Given the description of an element on the screen output the (x, y) to click on. 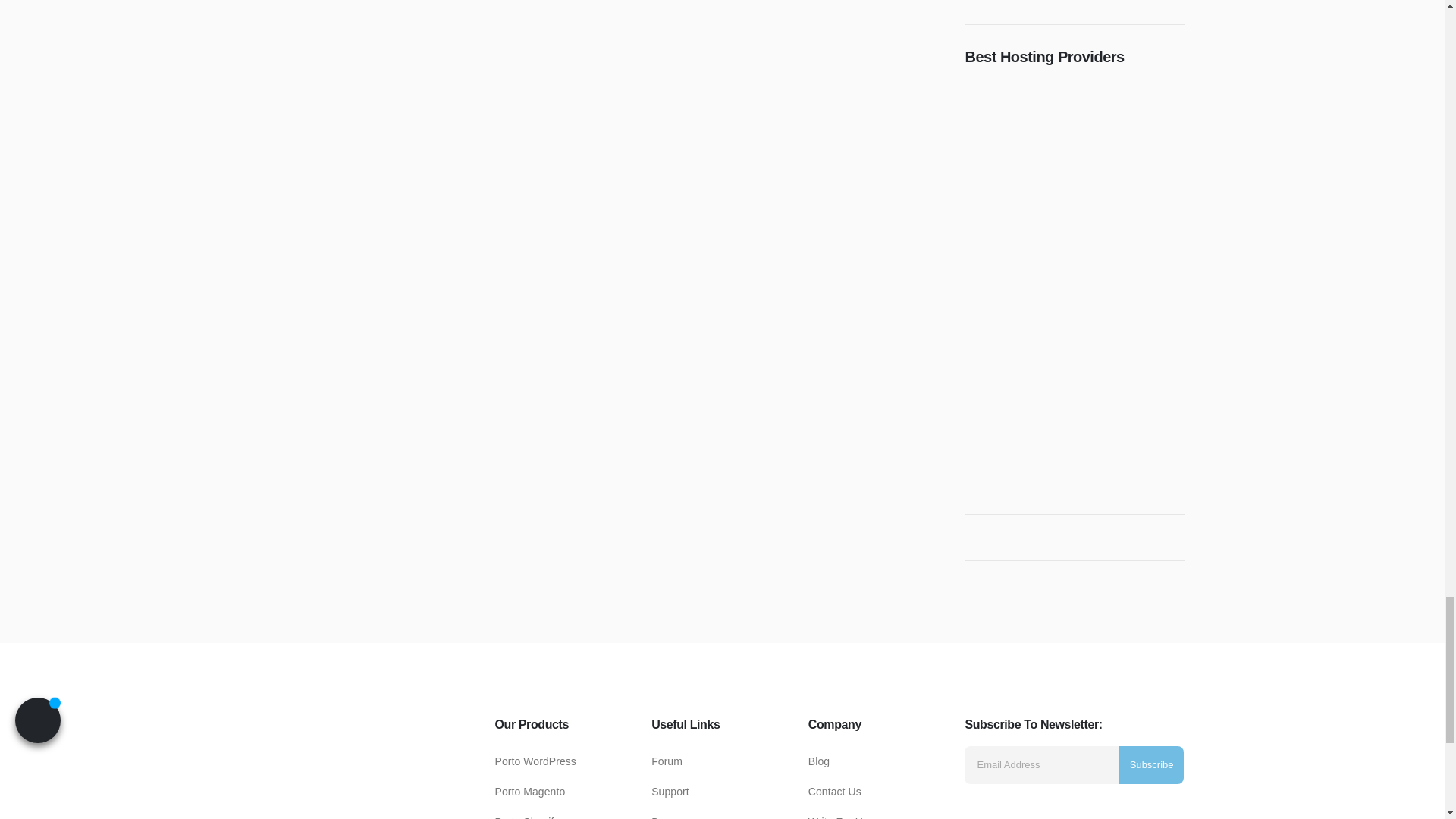
Subscribe (1151, 764)
Logo (369, 812)
porto magento (529, 791)
porto wordpress (535, 761)
porto shopify (527, 817)
